Given the description of an element on the screen output the (x, y) to click on. 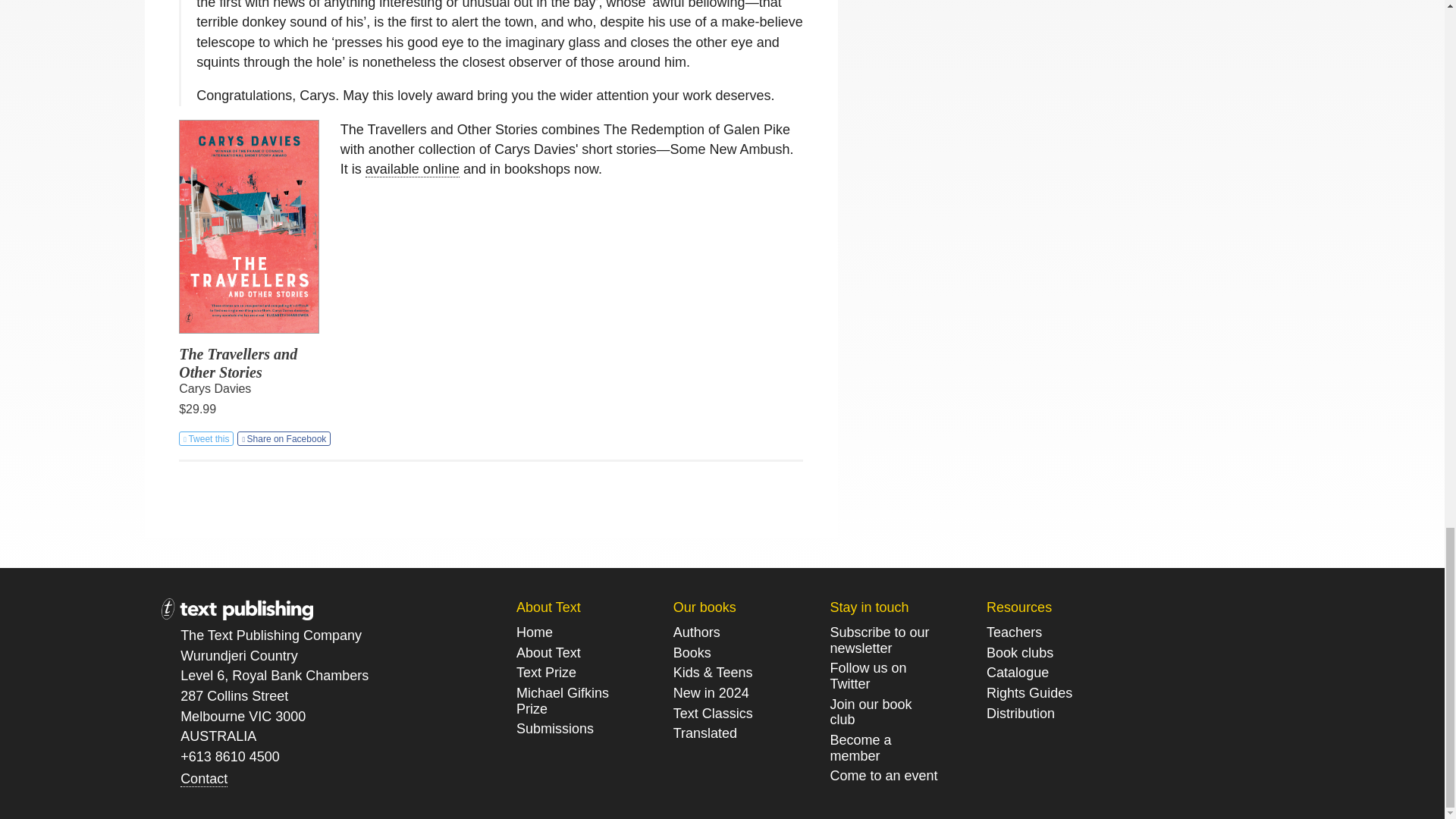
Share on Facebook (283, 438)
available online (412, 169)
Tweet this (205, 438)
